Given the description of an element on the screen output the (x, y) to click on. 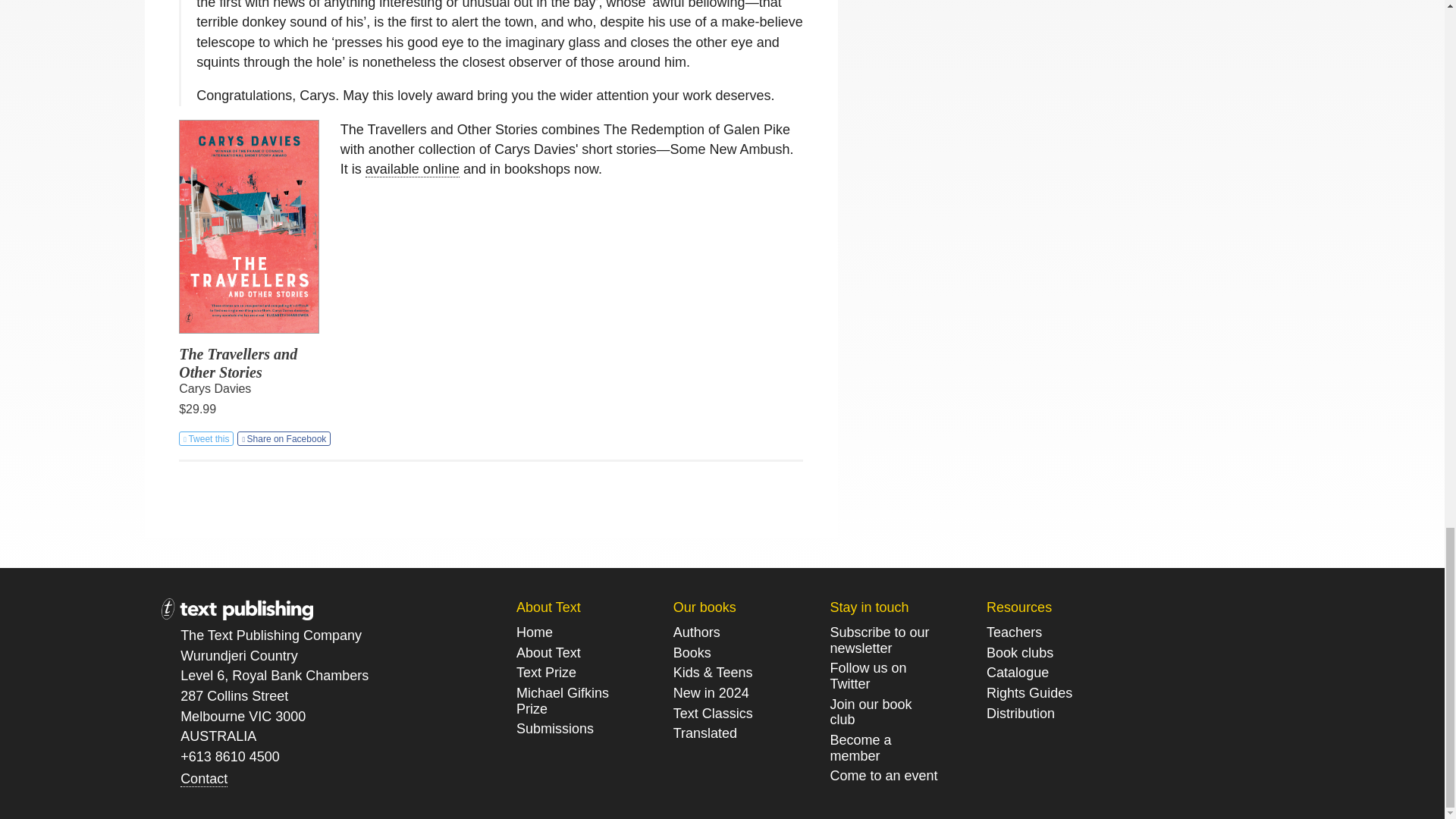
Share on Facebook (283, 438)
available online (412, 169)
Tweet this (205, 438)
